Given the description of an element on the screen output the (x, y) to click on. 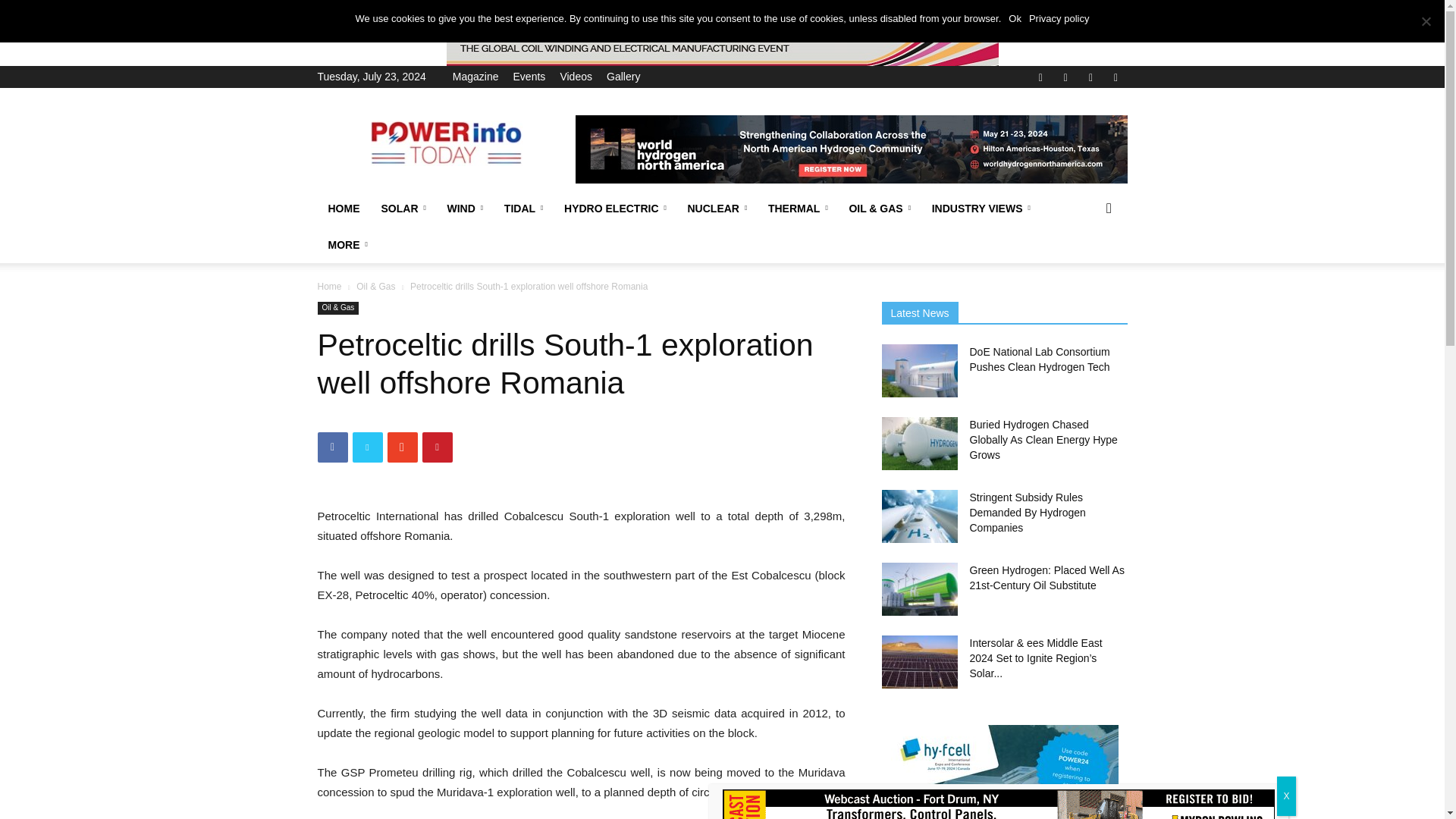
SOLAR (402, 207)
Gallery (623, 75)
Videos (575, 75)
HOME (343, 207)
Events (529, 75)
Magazine (475, 75)
Facebook (1040, 75)
Linkedin (1065, 75)
Youtube (1114, 75)
Power Info Today (445, 142)
Twitter (1090, 75)
